Given the description of an element on the screen output the (x, y) to click on. 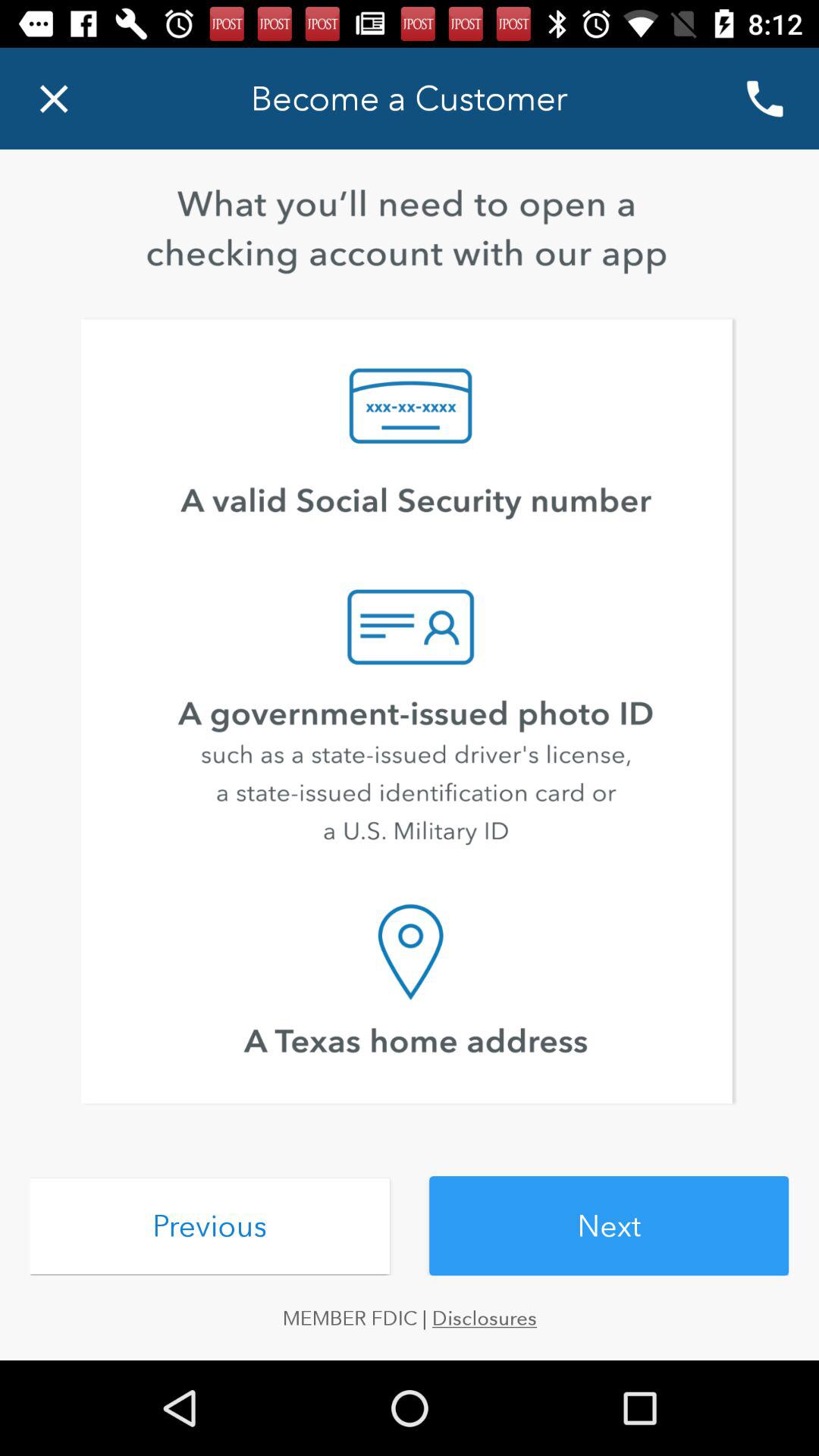
press the icon above member fdic | disclosures (209, 1226)
